Given the description of an element on the screen output the (x, y) to click on. 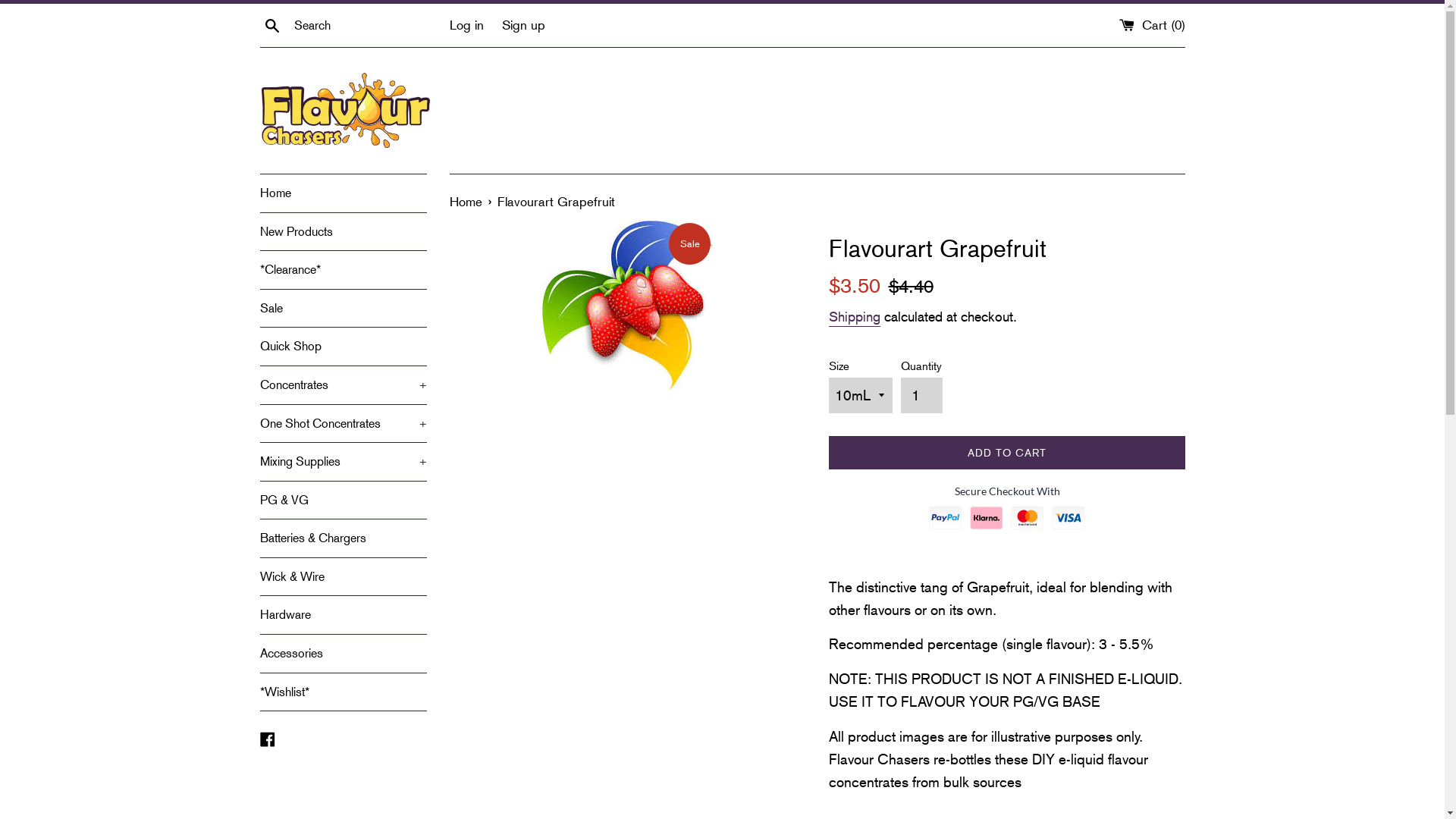
Wick & Wire Element type: text (342, 577)
Mixing Supplies
+ Element type: text (342, 461)
Hardware Element type: text (342, 614)
trust-badges-widget Element type: hover (1006, 513)
Batteries & Chargers Element type: text (342, 538)
New Products Element type: text (342, 232)
PG & VG Element type: text (342, 500)
Home Element type: text (342, 193)
Concentrates
+ Element type: text (342, 385)
ADD TO CART Element type: text (1006, 453)
Sign up Element type: text (523, 23)
Log in Element type: text (465, 23)
Cart (0) Element type: text (1152, 23)
Quick Shop Element type: text (342, 346)
Shipping Element type: text (853, 317)
Facebook Element type: text (266, 736)
*Clearance* Element type: text (342, 269)
Sale Element type: text (342, 308)
Accessories Element type: text (342, 653)
Home Element type: text (466, 201)
*Wishlist* Element type: text (342, 692)
One Shot Concentrates
+ Element type: text (342, 423)
Search Element type: text (271, 24)
